Given the description of an element on the screen output the (x, y) to click on. 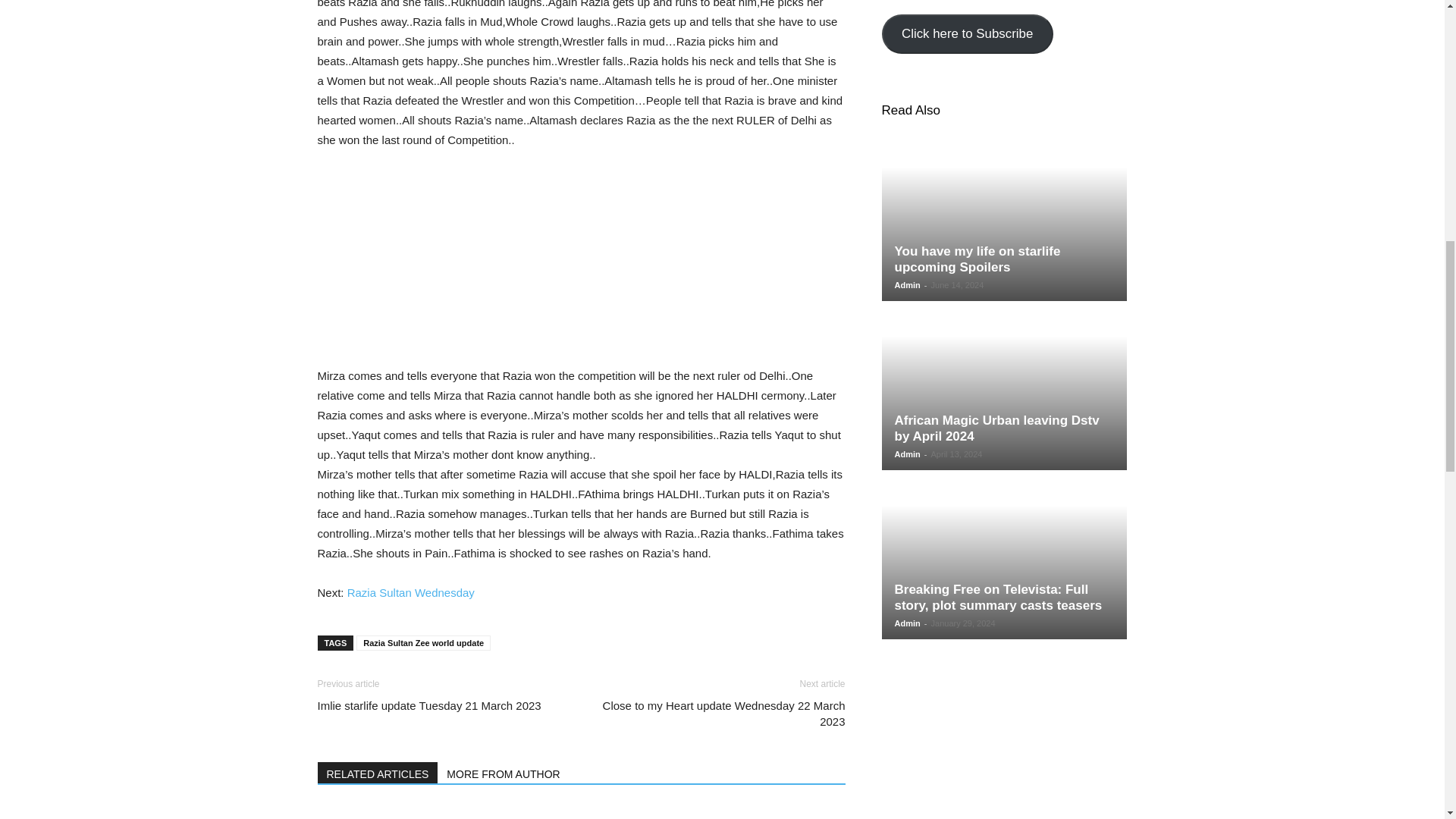
Force of attraction update Thursday 1 August 2024 (580, 812)
Force of attraction update Friday 2 August 2024 (399, 812)
